Given the description of an element on the screen output the (x, y) to click on. 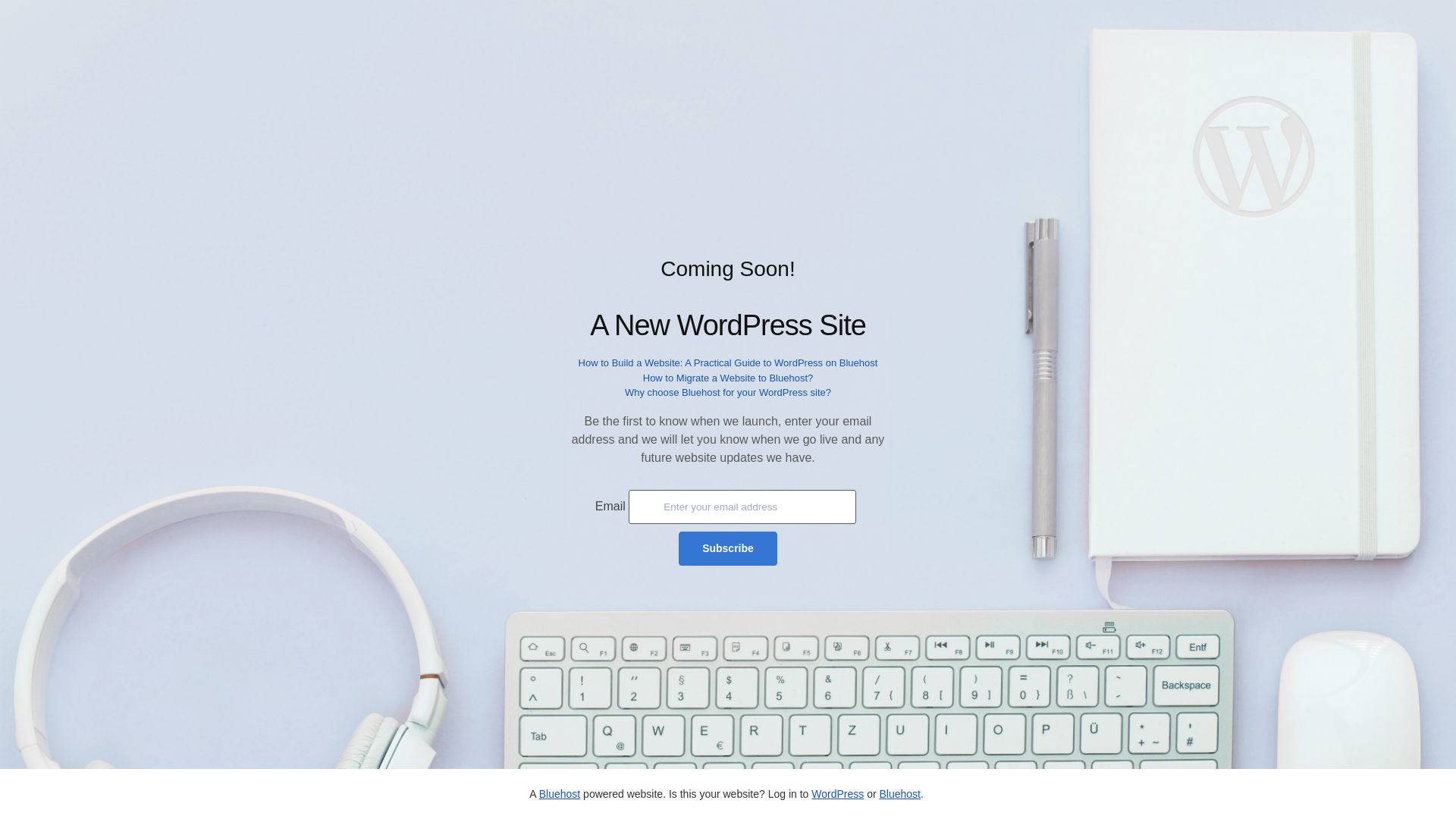
WordPress (836, 793)
Bluehost (899, 793)
Subscribe (727, 548)
Subscribe (727, 548)
Bluehost (558, 793)
How to Migrate a Website to Bluehost? (728, 378)
Why choose Bluehost for your WordPress site? (727, 392)
